Given the description of an element on the screen output the (x, y) to click on. 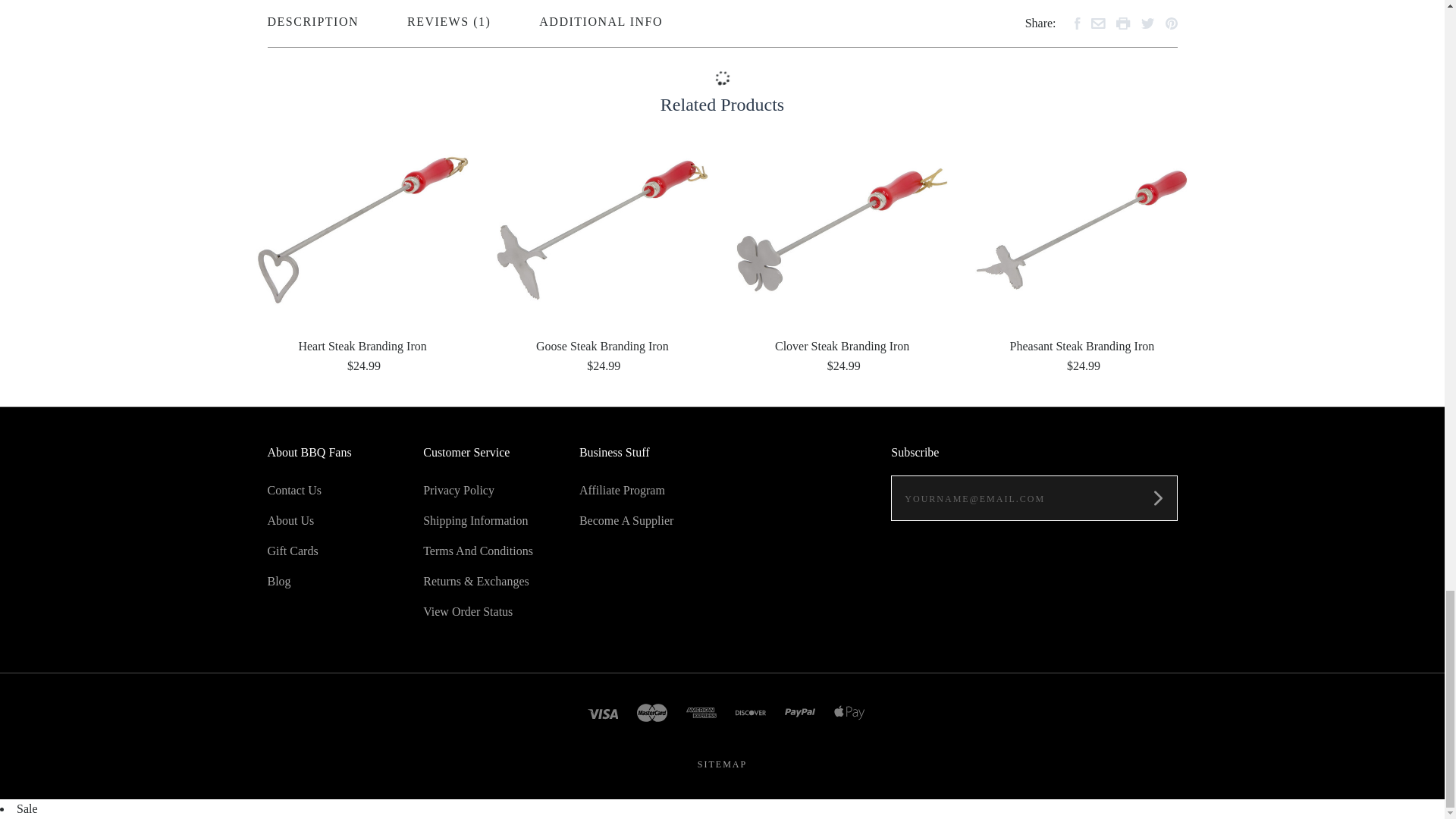
printer (1123, 23)
email (1097, 23)
pinterest (1170, 23)
twitter (1147, 23)
